Given the description of an element on the screen output the (x, y) to click on. 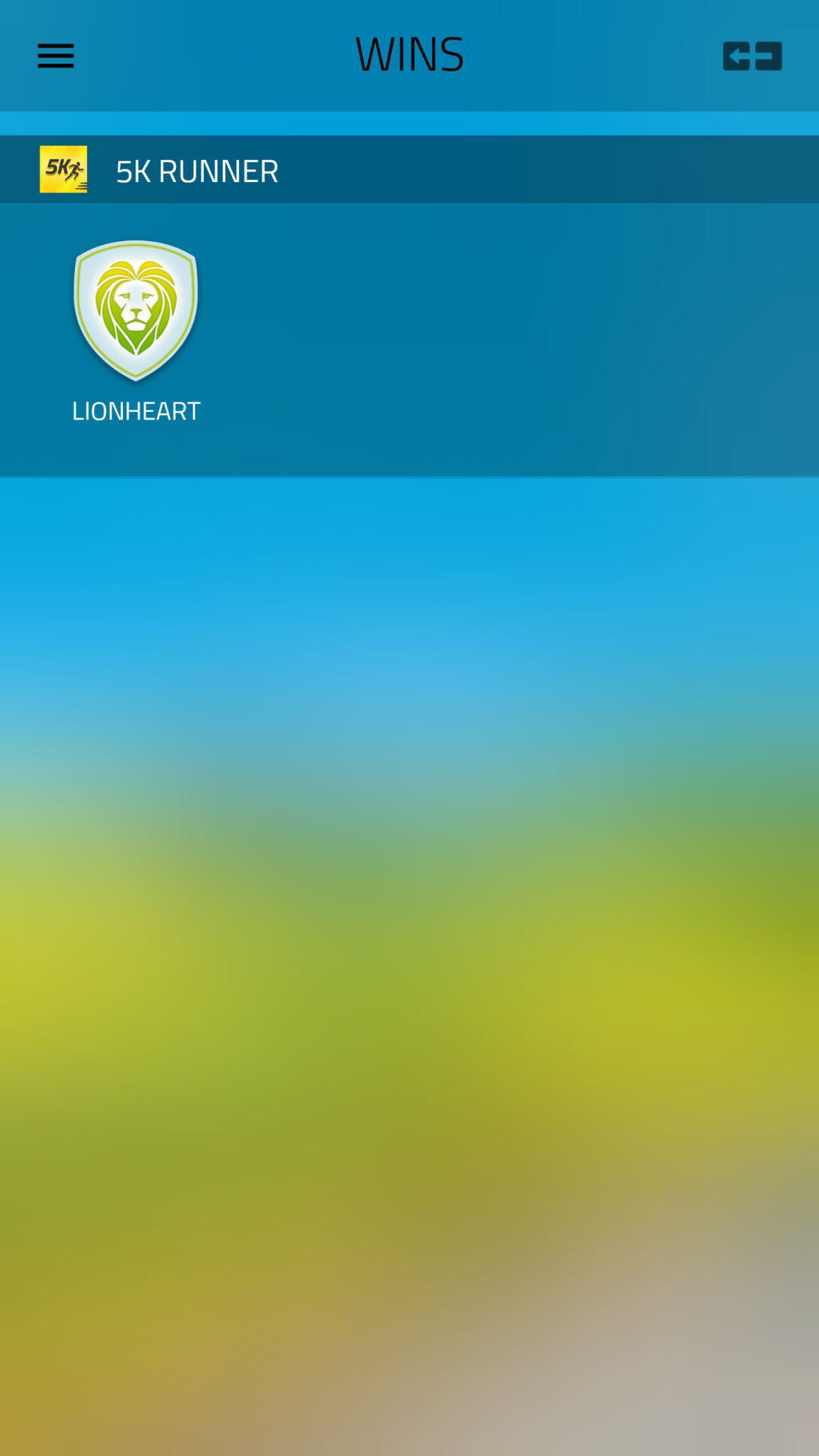
scroll to lionheart
 item (135, 422)
